Given the description of an element on the screen output the (x, y) to click on. 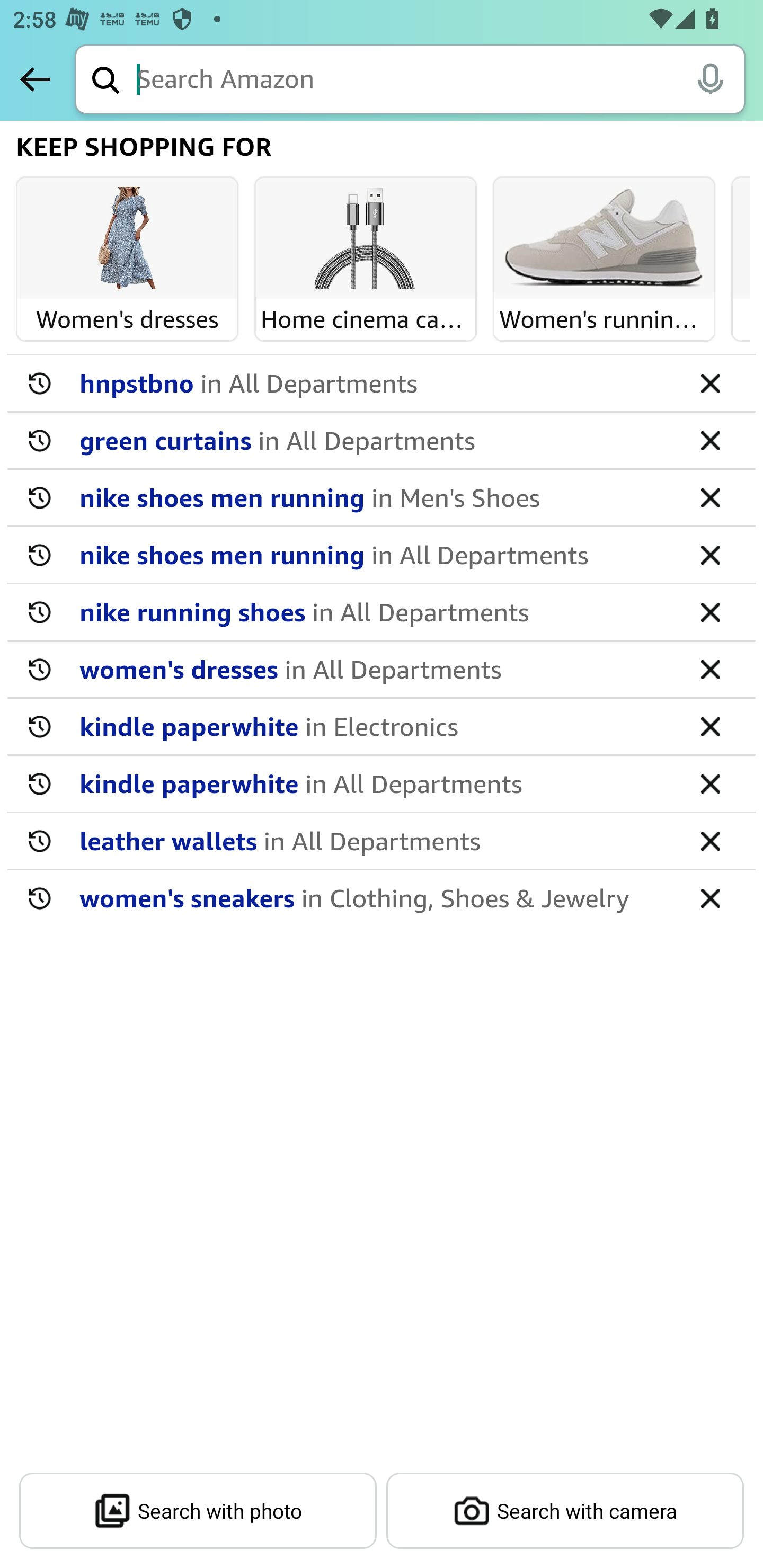
Search Amazon (440, 80)
Back (35, 78)
Alexa (710, 78)
Women's dresses (126, 238)
Home cinema cables (365, 238)
Women's running shoes (603, 238)
hnpstbno delete (381, 383)
hnpstbno (374, 382)
delete (710, 382)
green curtains delete (381, 440)
green curtains (374, 439)
delete (710, 439)
nike shoes men running delete (381, 497)
nike shoes men running (374, 496)
delete (710, 496)
nike shoes men running delete (381, 554)
nike shoes men running (374, 554)
delete (710, 554)
nike running shoes delete (381, 612)
nike running shoes (374, 611)
delete (710, 611)
women's dresses delete (381, 669)
women's dresses (374, 668)
delete (710, 668)
kindle paperwhite delete (381, 726)
kindle paperwhite (374, 725)
delete (710, 725)
kindle paperwhite delete (381, 783)
kindle paperwhite (374, 783)
delete (710, 783)
leather wallets delete (381, 841)
leather wallets (374, 840)
delete (710, 840)
women's sneakers delete (381, 897)
women's sneakers (374, 897)
delete (710, 897)
Search with photo (197, 1510)
Search with camera (564, 1510)
